Given the description of an element on the screen output the (x, y) to click on. 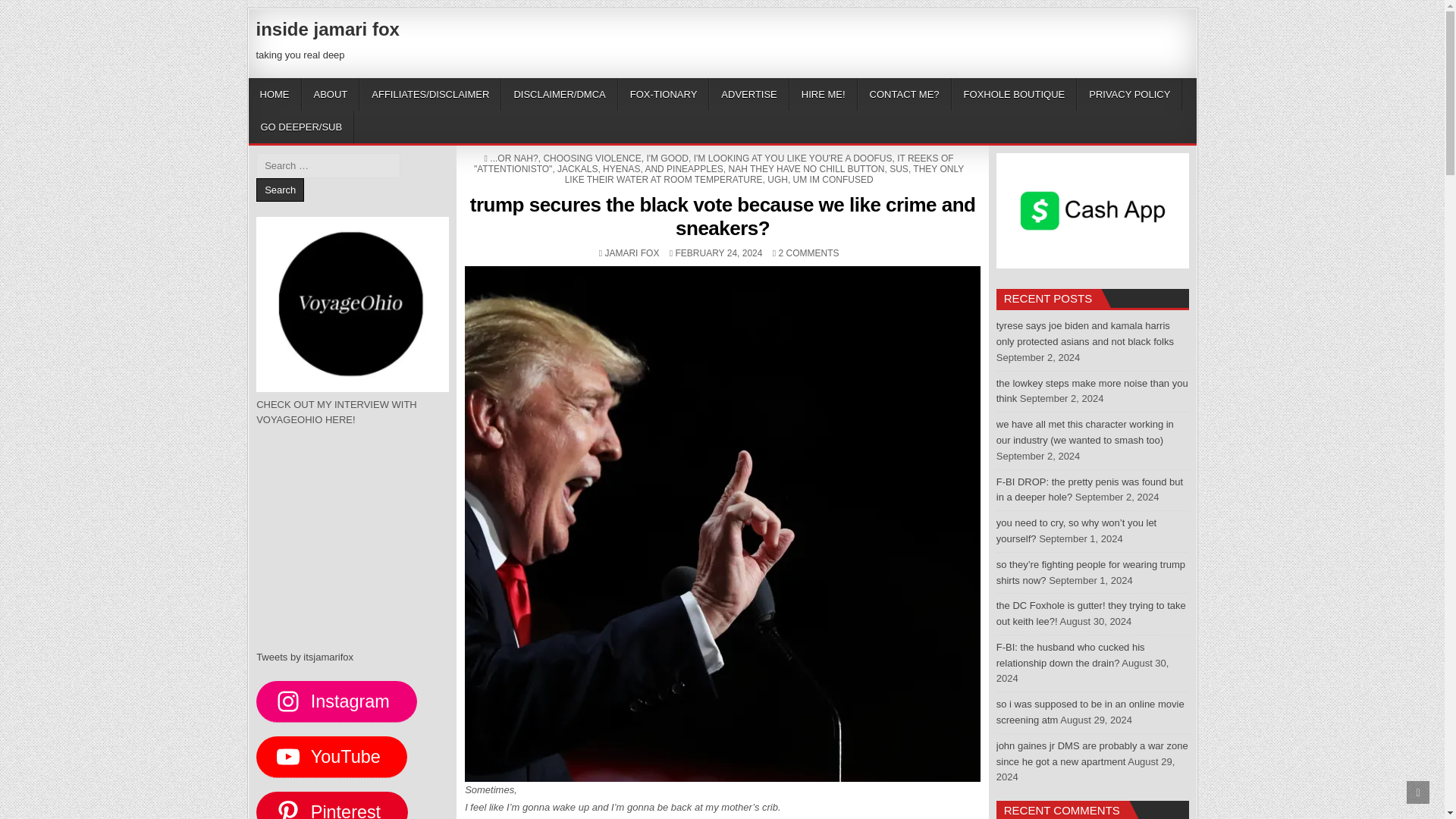
...OR NAH? (513, 158)
CONTACT ME? (904, 93)
ABOUT (330, 93)
Scroll to Top (1417, 792)
UGH (777, 179)
I'M GOOD (667, 158)
inside jamari fox (327, 28)
HIRE ME! (823, 93)
SUS (898, 168)
